Given the description of an element on the screen output the (x, y) to click on. 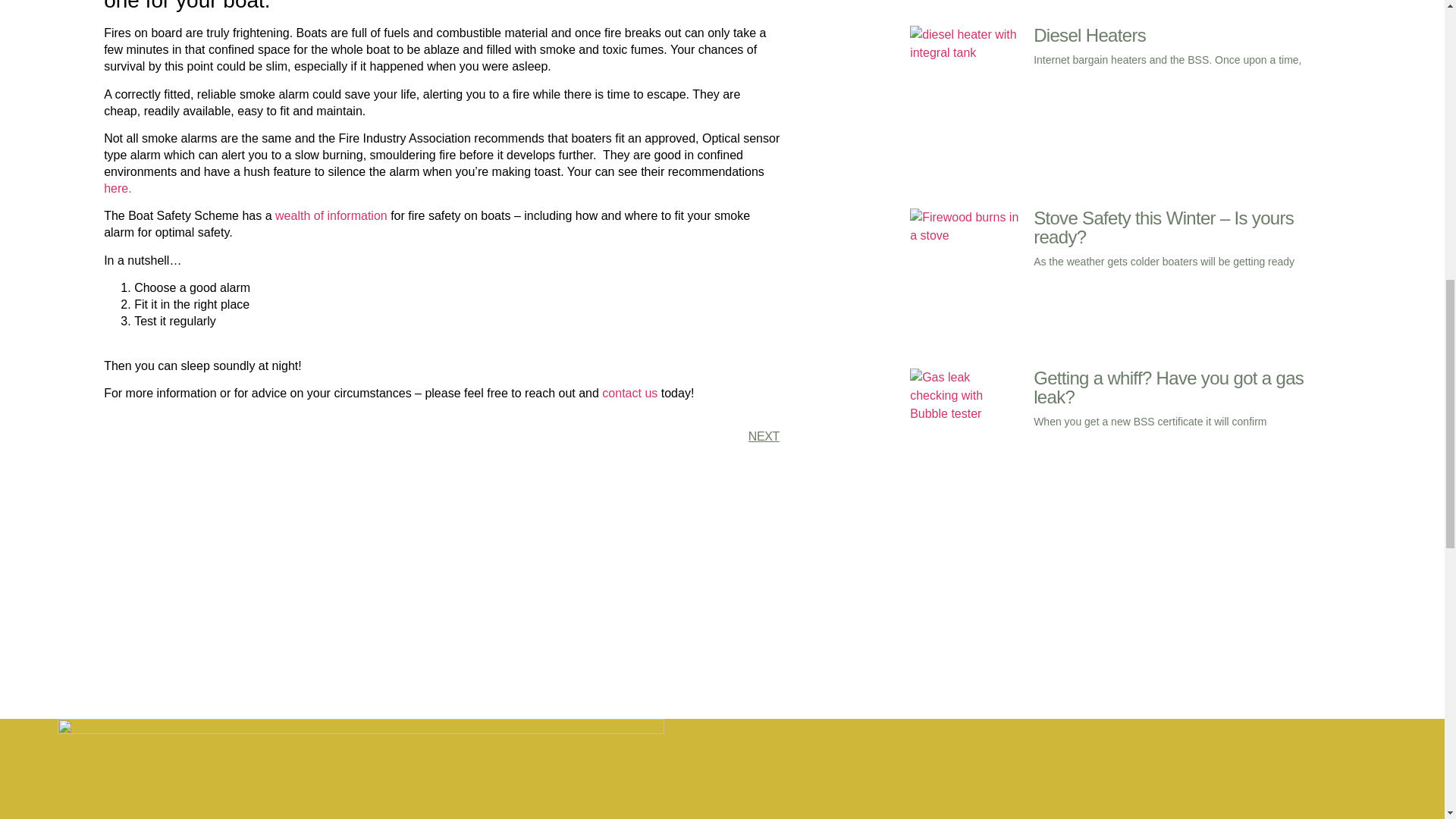
Diesel Heaters (1089, 35)
wealth of information (331, 215)
NEXT (609, 436)
here. (117, 187)
contact us (630, 392)
